Given the description of an element on the screen output the (x, y) to click on. 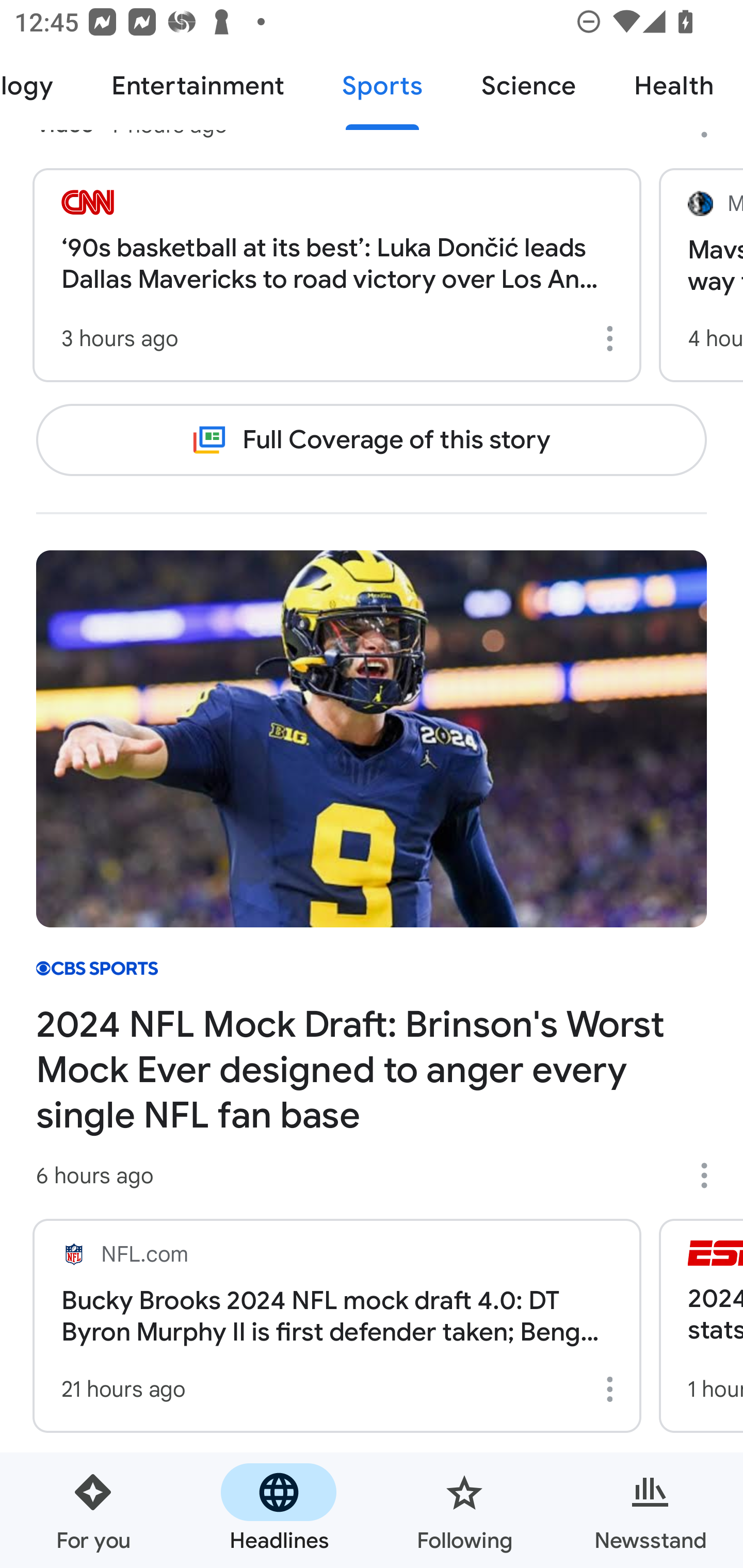
Technology (40, 86)
Entertainment (197, 86)
Science (527, 86)
Health (673, 86)
More options (613, 338)
Full Coverage of this story (371, 440)
More options (711, 1175)
More options (613, 1388)
For you (92, 1509)
Headlines (278, 1509)
Following (464, 1509)
Newsstand (650, 1509)
